Given the description of an element on the screen output the (x, y) to click on. 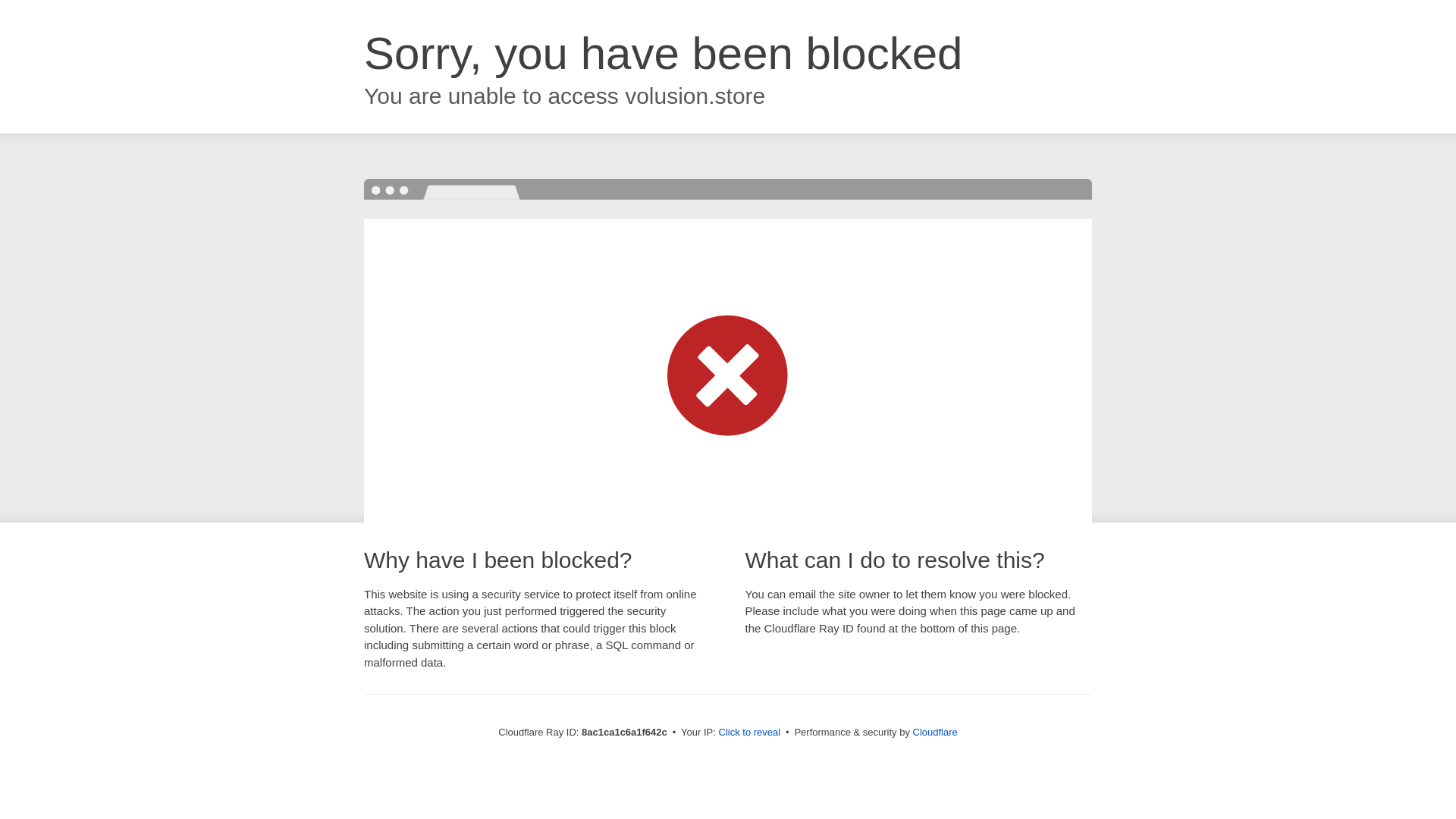
Cloudflare (935, 731)
Click to reveal (749, 732)
